Given the description of an element on the screen output the (x, y) to click on. 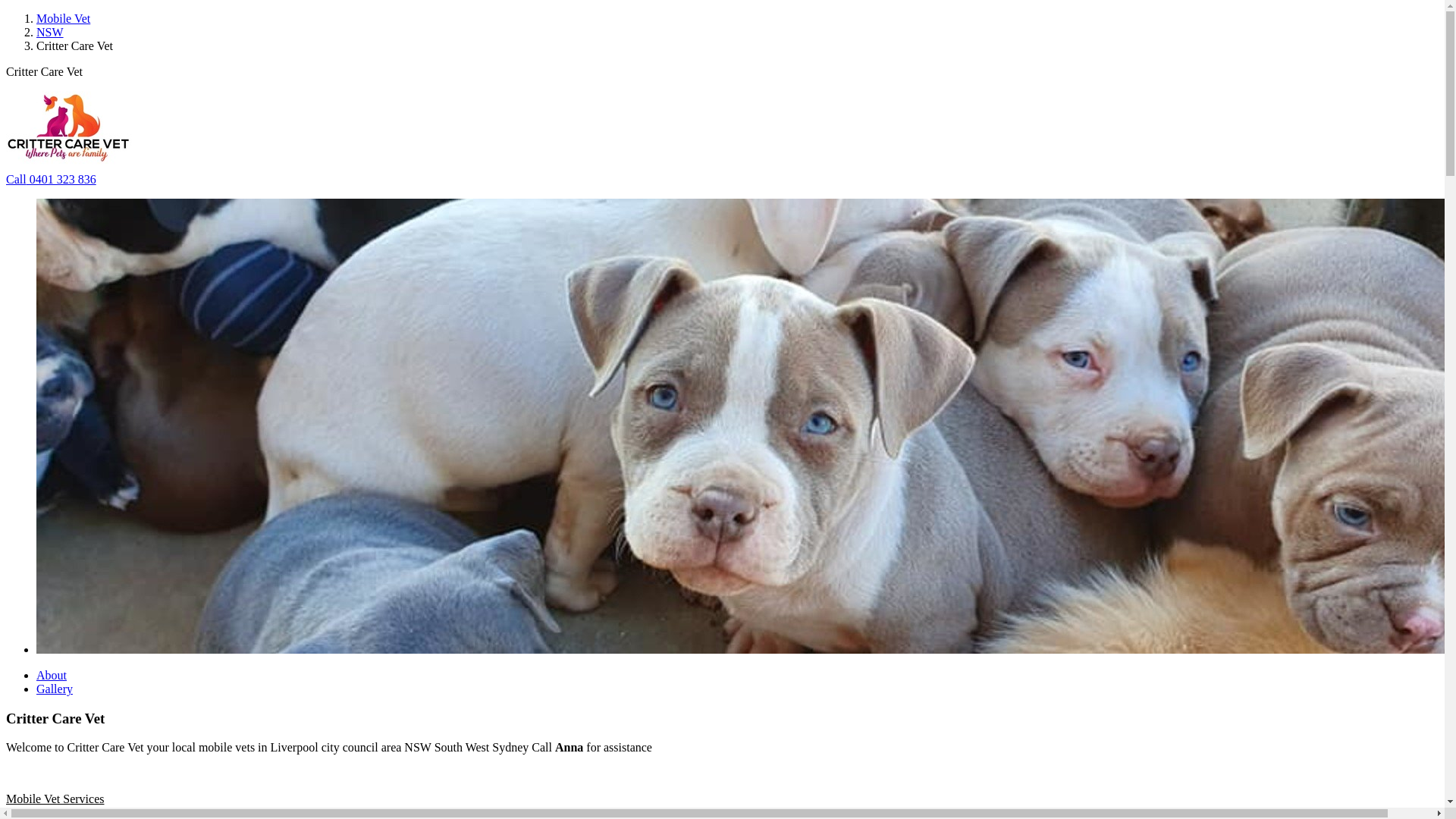
NSW Element type: text (49, 31)
About Element type: text (51, 674)
Mobile Vet Element type: text (63, 18)
Call 0401 323 836 Element type: text (51, 178)
Gallery Element type: text (54, 688)
